Given the description of an element on the screen output the (x, y) to click on. 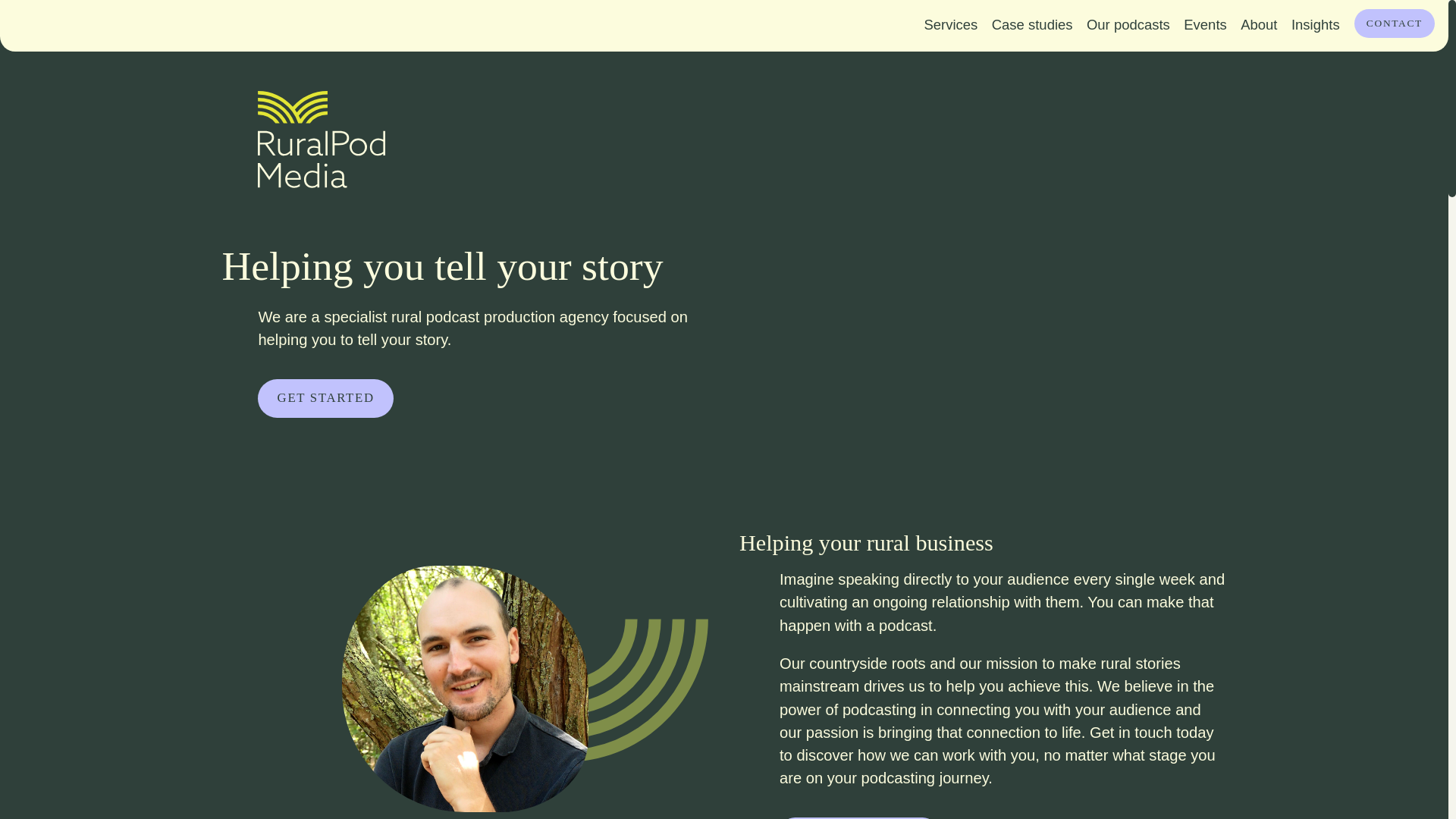
CONTACT (1394, 23)
Case studies (1032, 24)
Events (1204, 24)
Services (950, 24)
GET STARTED (325, 398)
Home (48, 4)
About (1258, 24)
Our podcasts (1128, 24)
Insights (1315, 24)
